Given the description of an element on the screen output the (x, y) to click on. 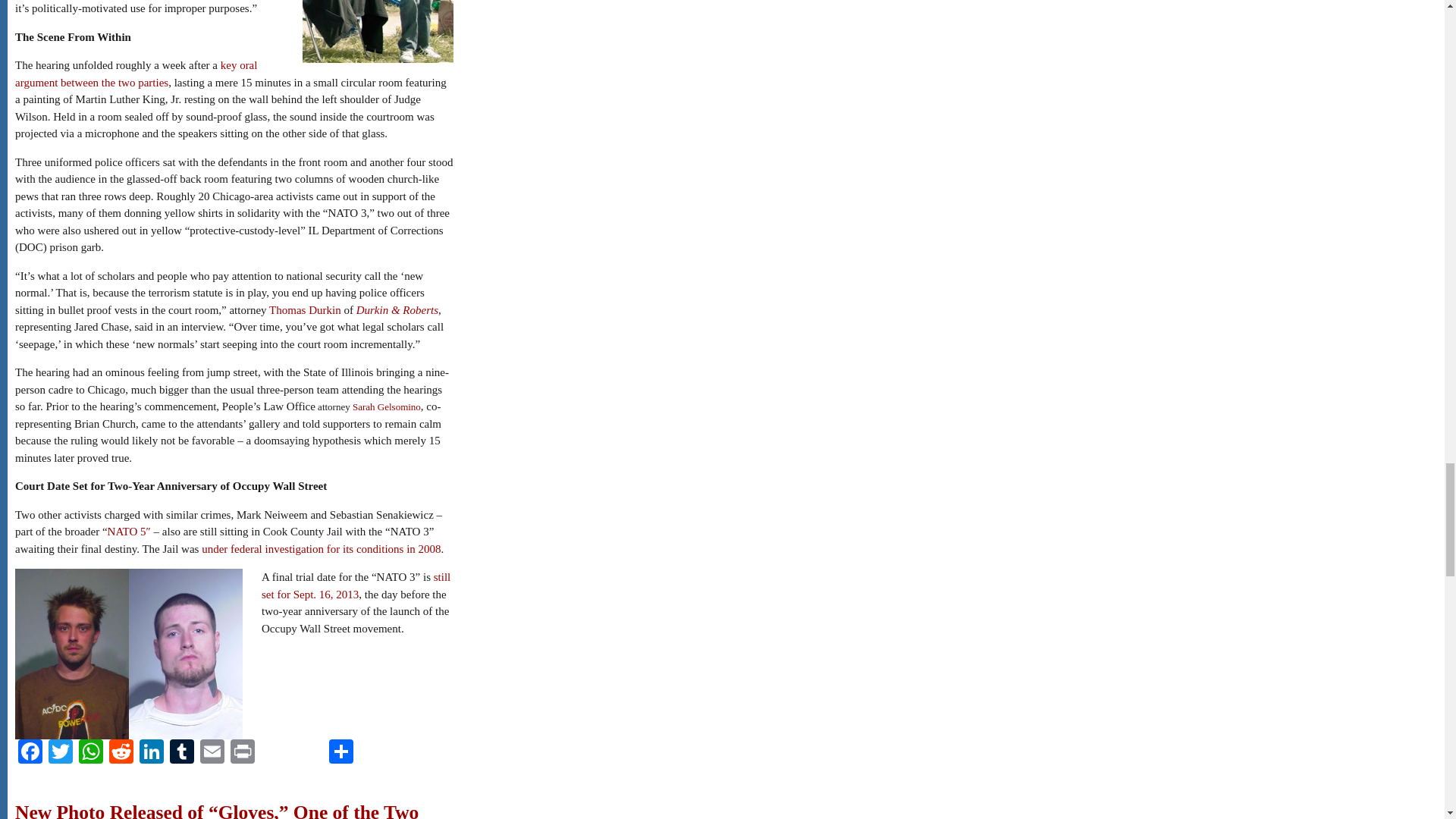
Email (211, 753)
LinkedIn (151, 753)
Reddit (121, 753)
Twitter (60, 753)
WhatsApp (90, 753)
Tumblr (181, 753)
Facebook (29, 753)
